Given the description of an element on the screen output the (x, y) to click on. 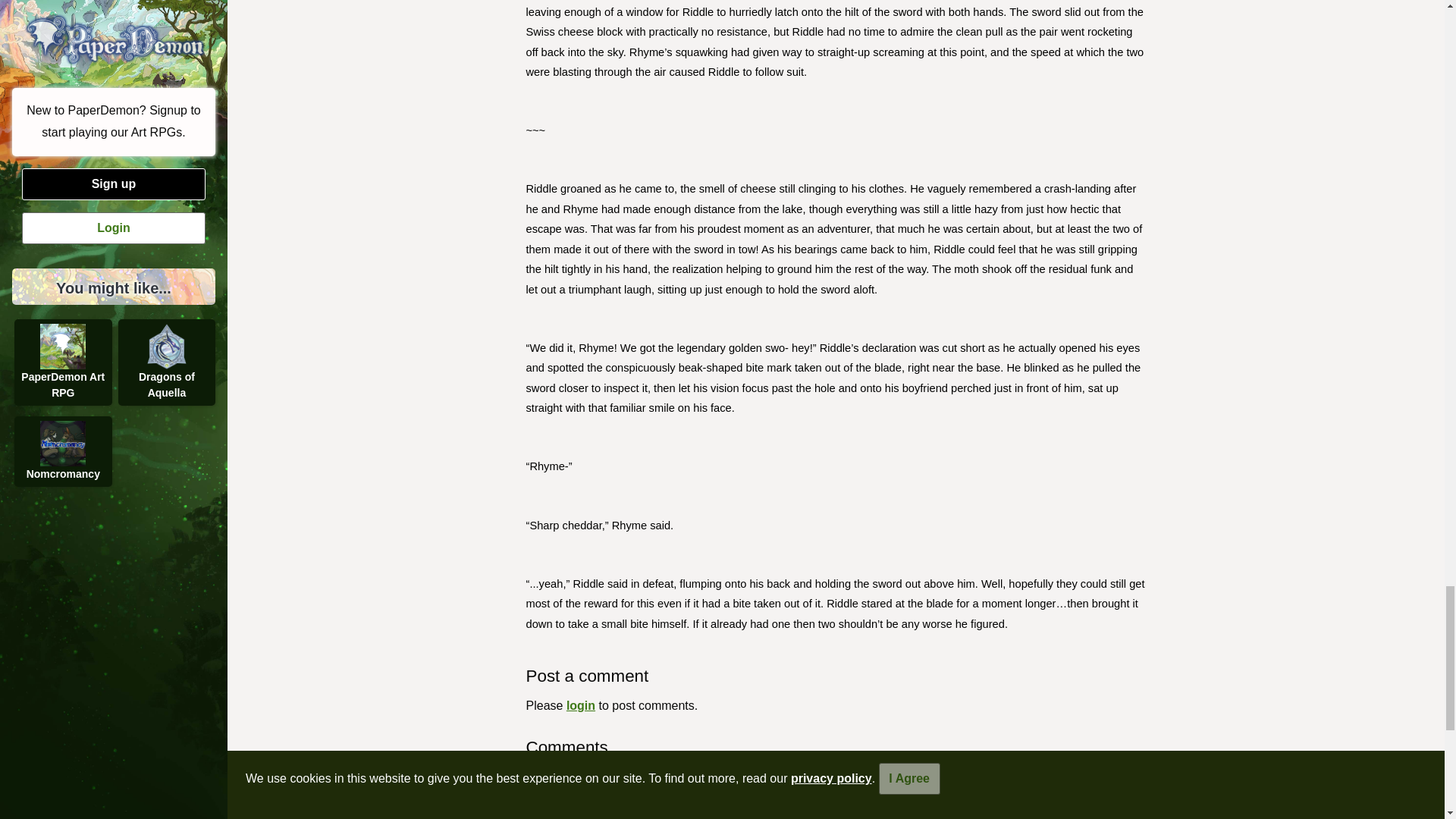
login (580, 705)
